Given the description of an element on the screen output the (x, y) to click on. 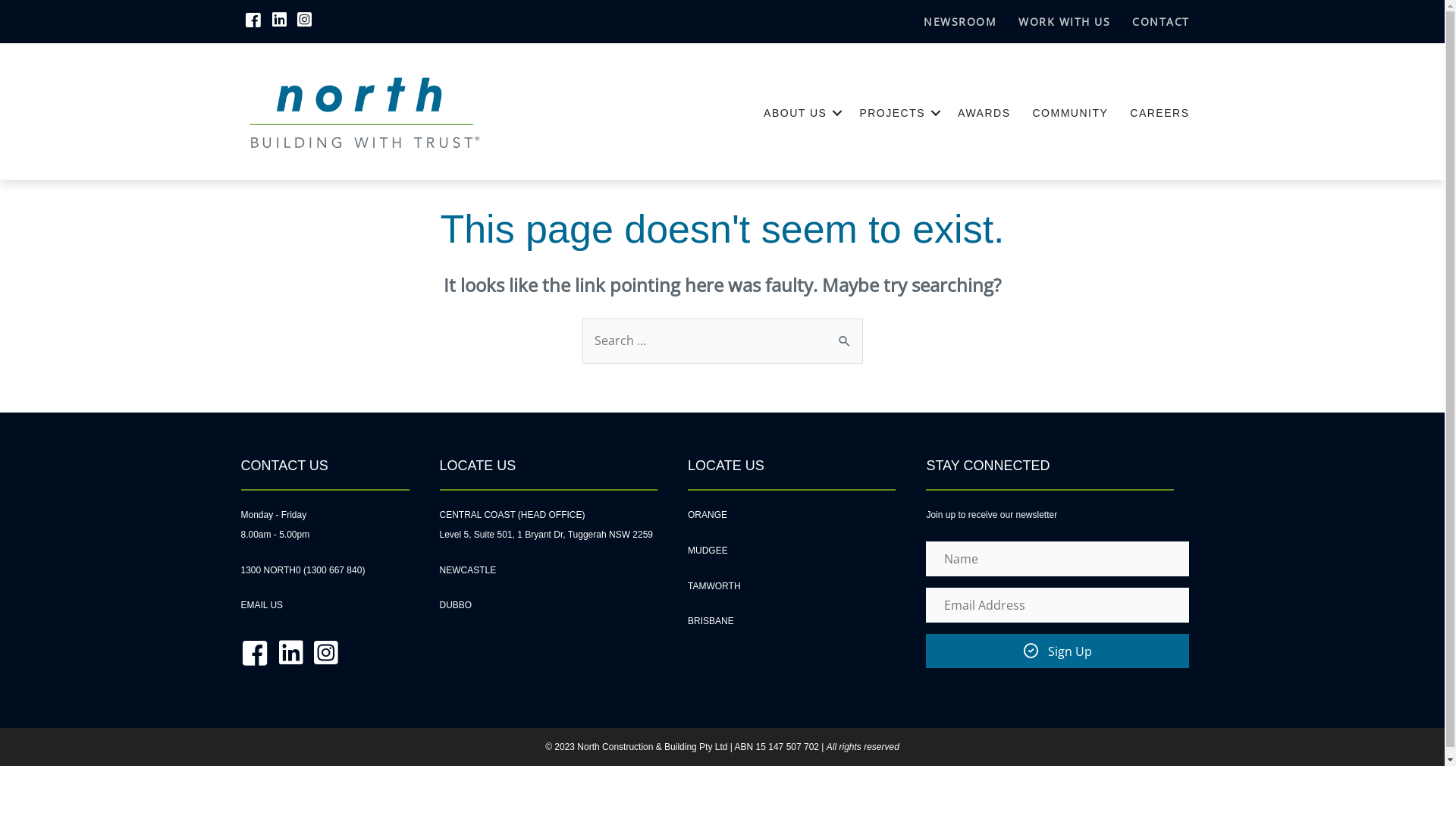
CONTACT Element type: text (1160, 21)
AWARDS Element type: text (983, 112)
1300 NORTH0 Element type: text (271, 569)
CAREERS Element type: text (1159, 112)
ABOUT US Element type: text (800, 112)
Sign Up Element type: text (1057, 650)
ncb-logo Element type: hover (364, 112)
COMMUNITY Element type: text (1069, 112)
Search Element type: text (845, 334)
NEWSROOM Element type: text (960, 21)
EMAIL US Element type: text (262, 604)
PROJECTS Element type: text (897, 112)
WORK WITH US Element type: text (1063, 21)
